Given the description of an element on the screen output the (x, y) to click on. 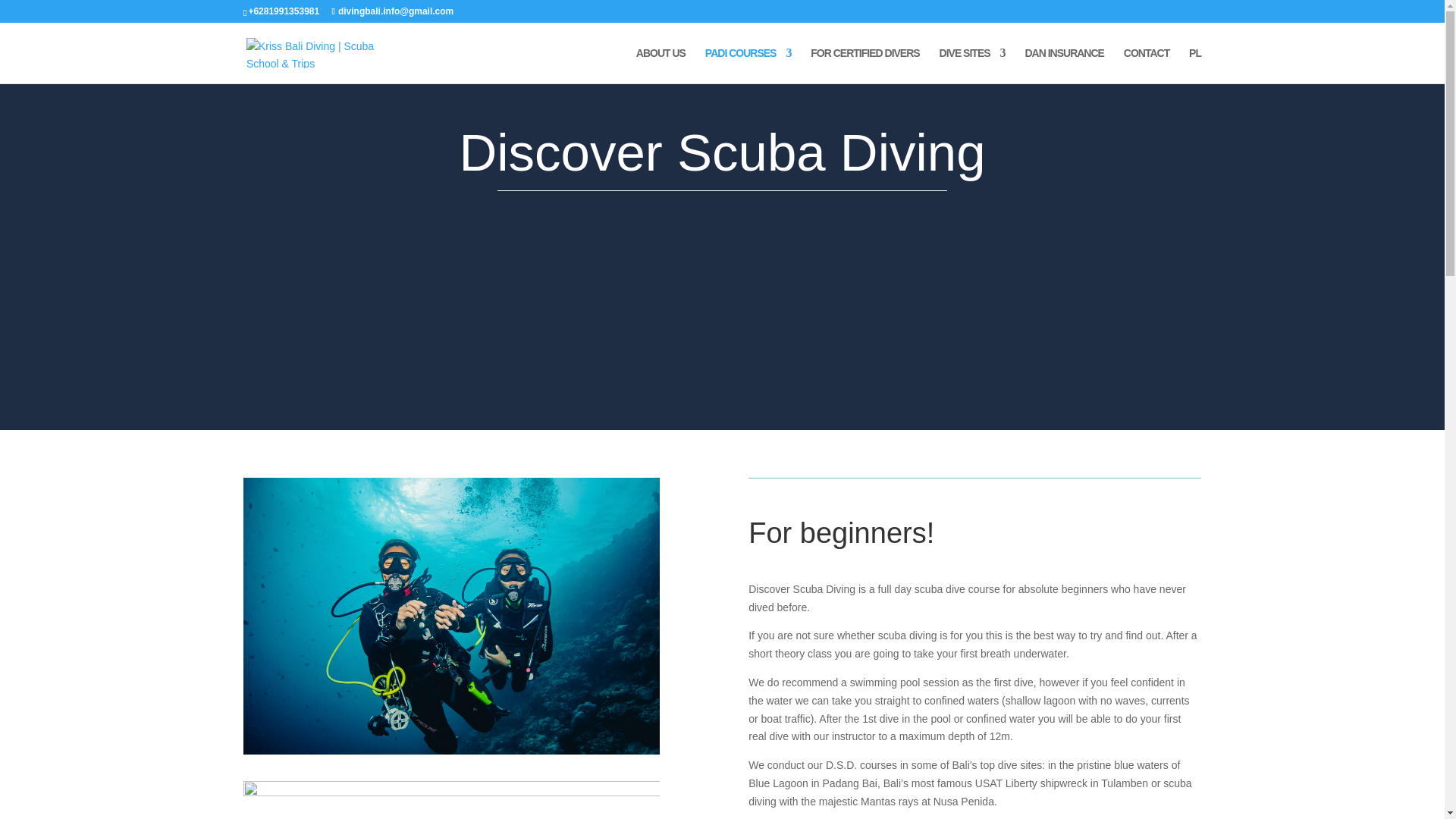
CONTACT (1146, 65)
FOR CERTIFIED DIVERS (864, 65)
DSD (451, 616)
DIVE SITES (972, 65)
PADI COURSES (748, 65)
ABOUT US (660, 65)
DAN INSURANCE (1064, 65)
